Given the description of an element on the screen output the (x, y) to click on. 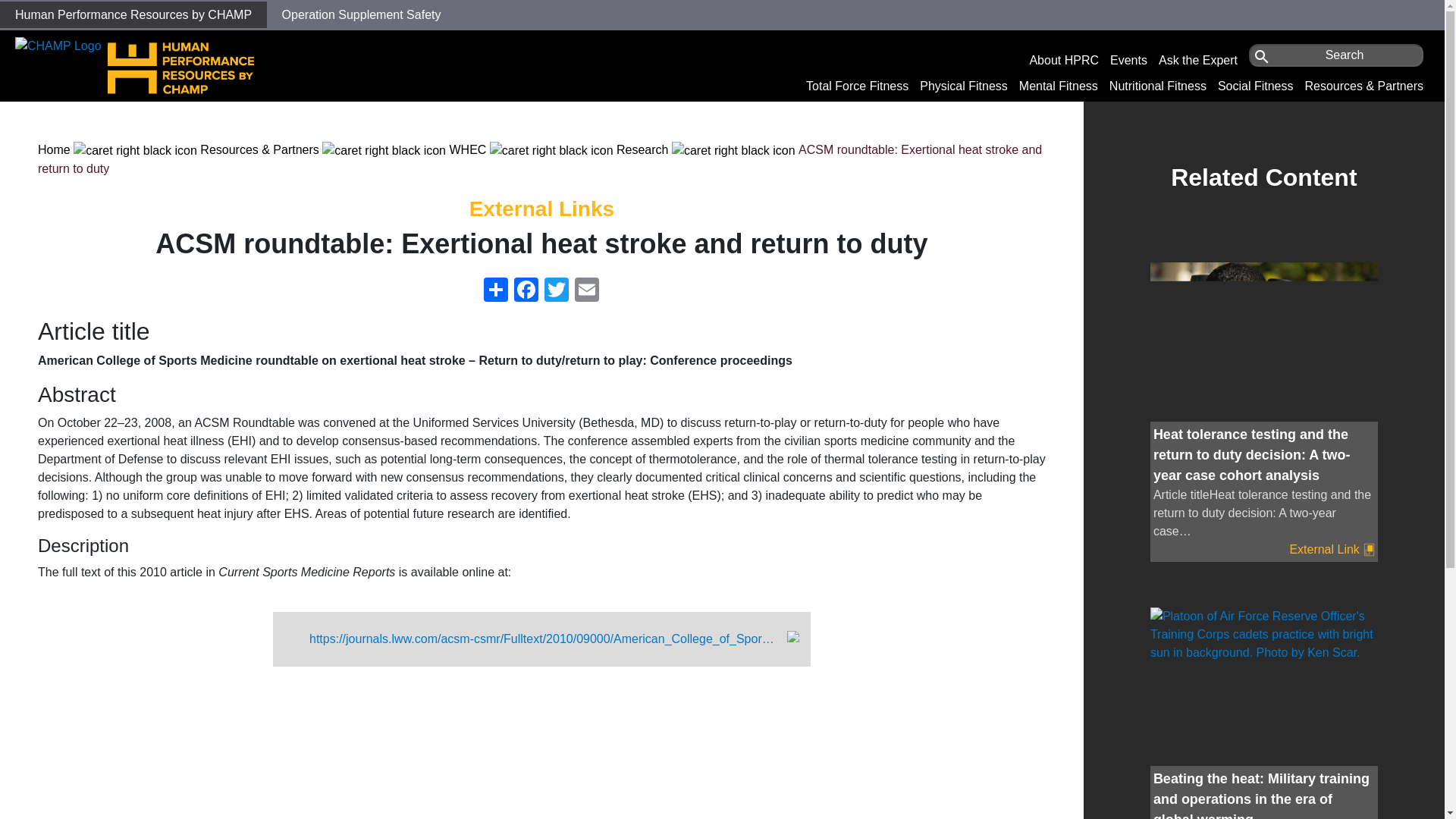
Operation Supplement Safety (361, 14)
Events (1128, 60)
Ask the Expert (1197, 60)
Human Performance Resources by CHAMP (133, 14)
search icon (1261, 56)
